Given the description of an element on the screen output the (x, y) to click on. 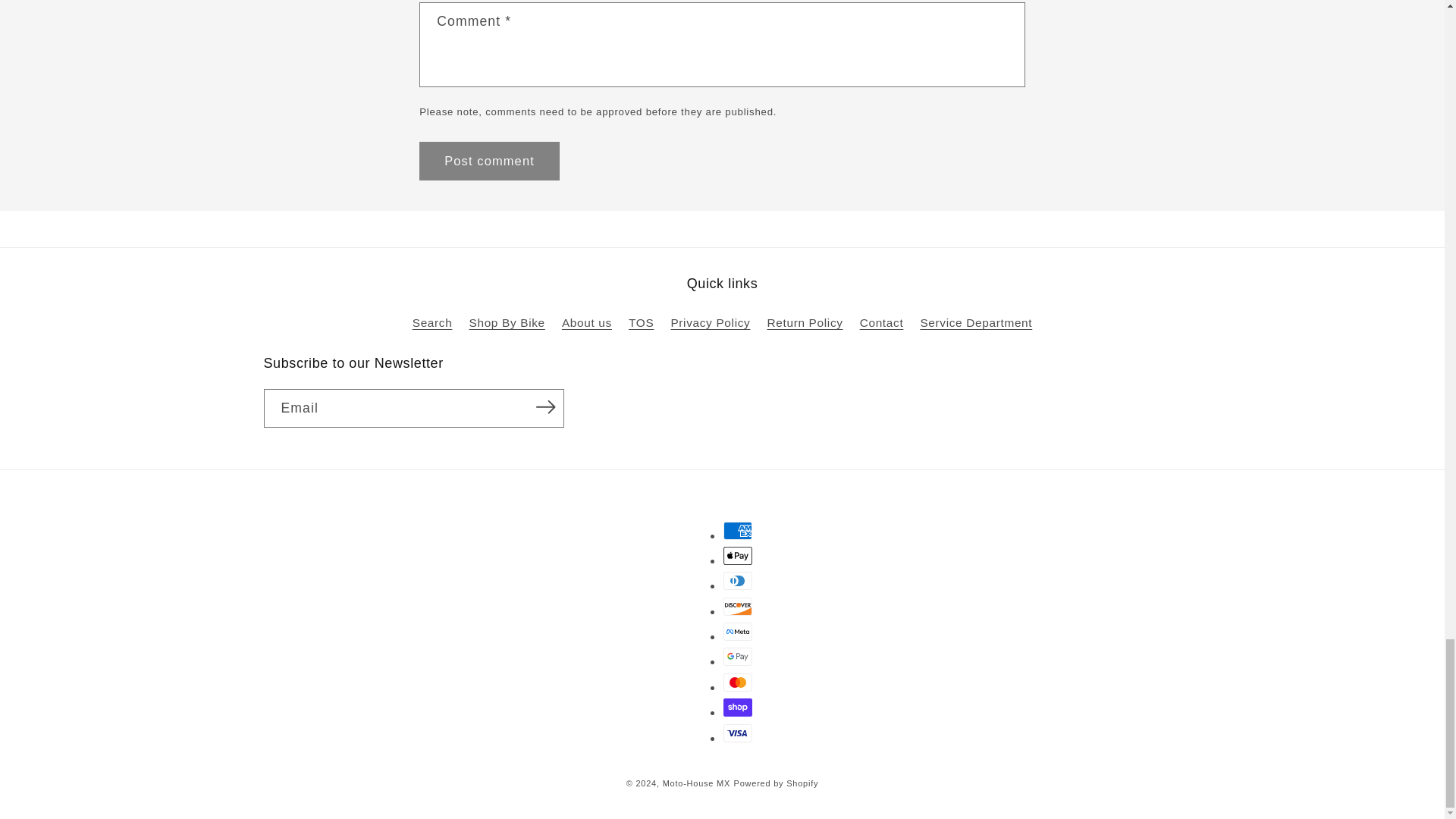
Apple Pay (737, 556)
Meta Pay (737, 631)
Post comment (489, 160)
Diners Club (737, 580)
Discover (737, 606)
American Express (737, 530)
